Given the description of an element on the screen output the (x, y) to click on. 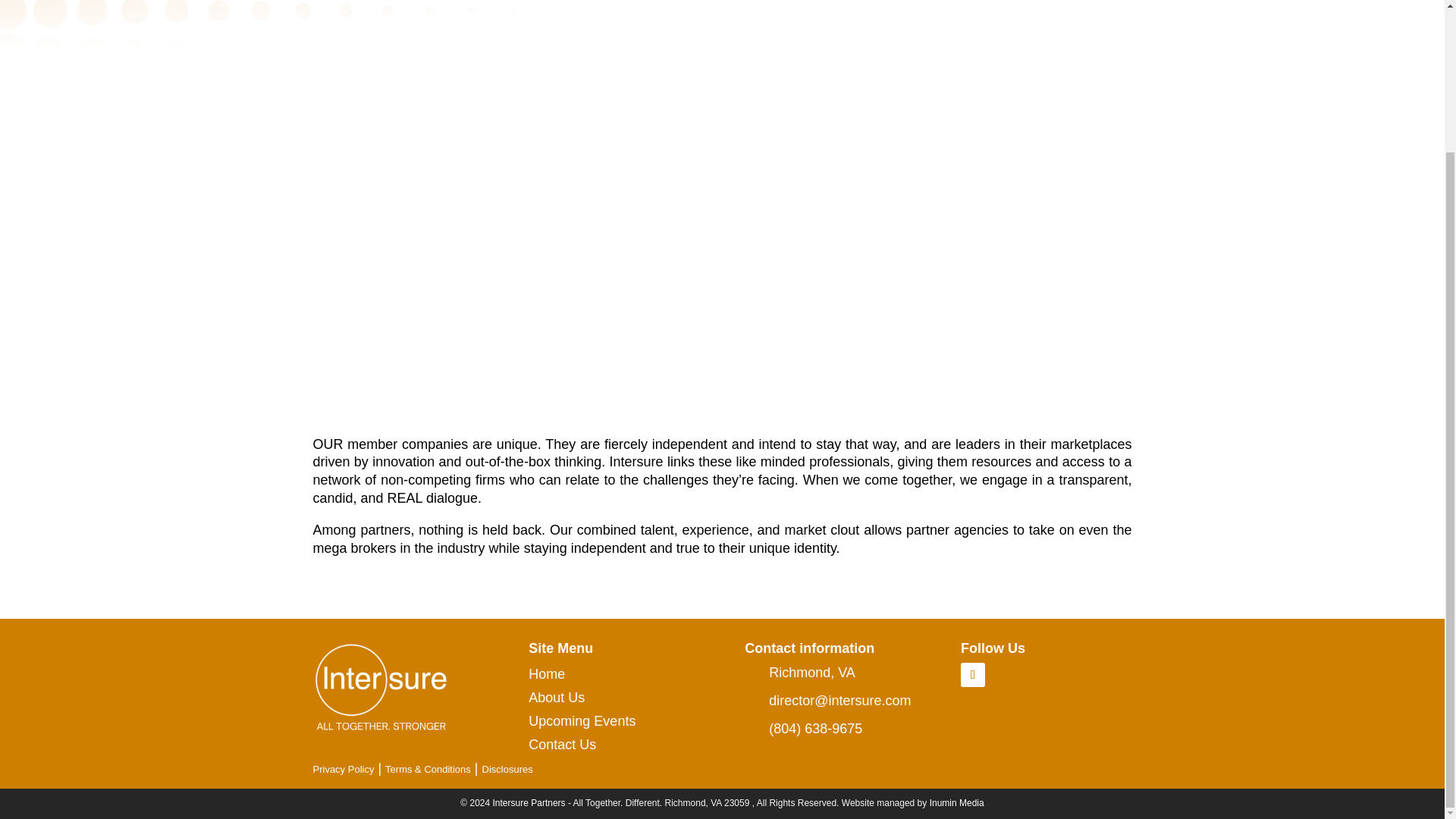
Disclosures (506, 768)
Inumin Media (957, 802)
Follow on LinkedIn (972, 674)
Privacy Policy (343, 768)
Intersure Partners (529, 802)
IntersureStrongerLogo white (380, 686)
